Given the description of an element on the screen output the (x, y) to click on. 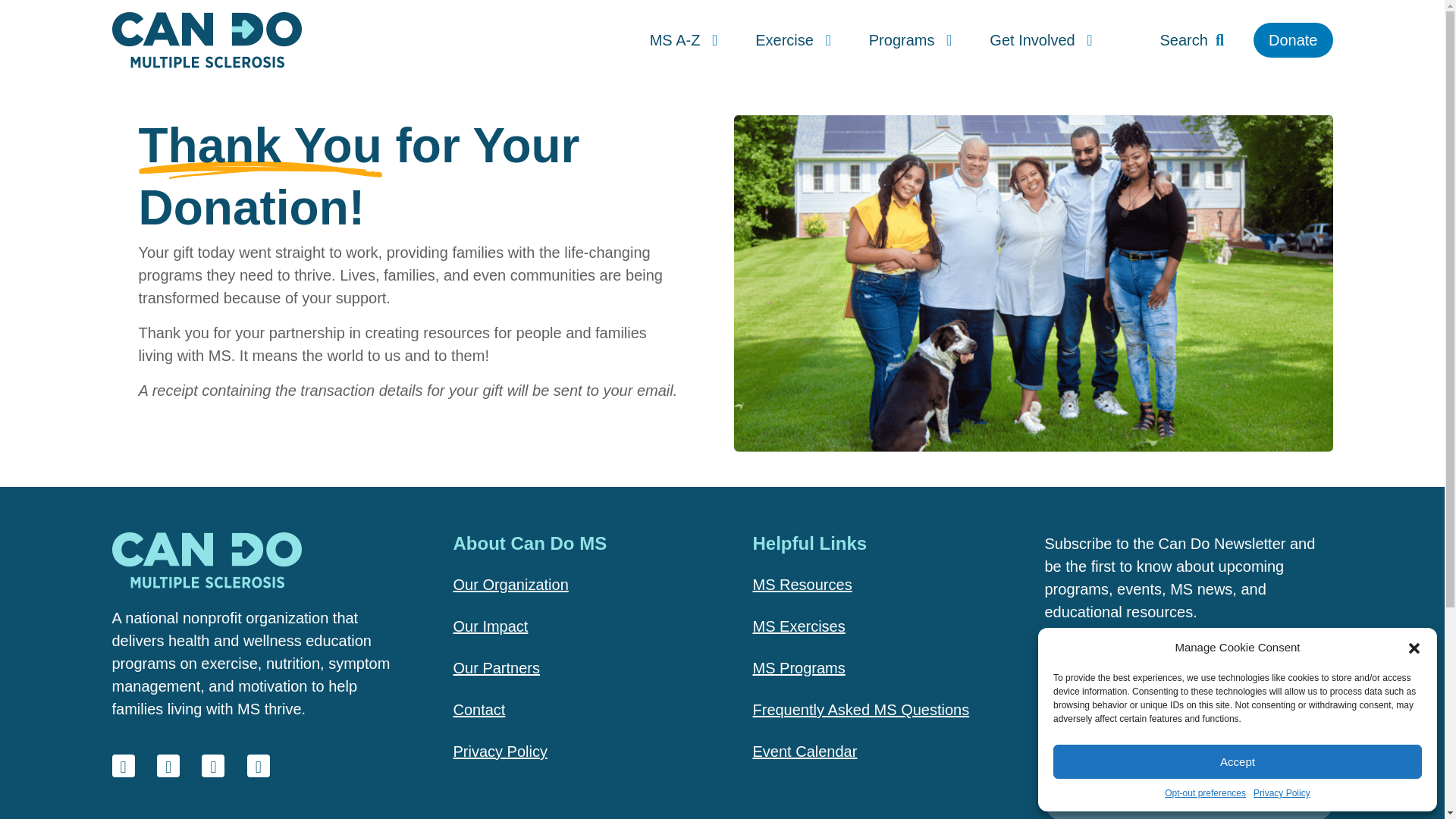
Privacy Policy (1281, 793)
Accept (1237, 761)
Exercise (793, 39)
Opt-out preferences (1205, 793)
Programs (910, 39)
Search (1192, 39)
Donate (1293, 39)
Get Involved (1041, 39)
MS A-Z (683, 39)
